Given the description of an element on the screen output the (x, y) to click on. 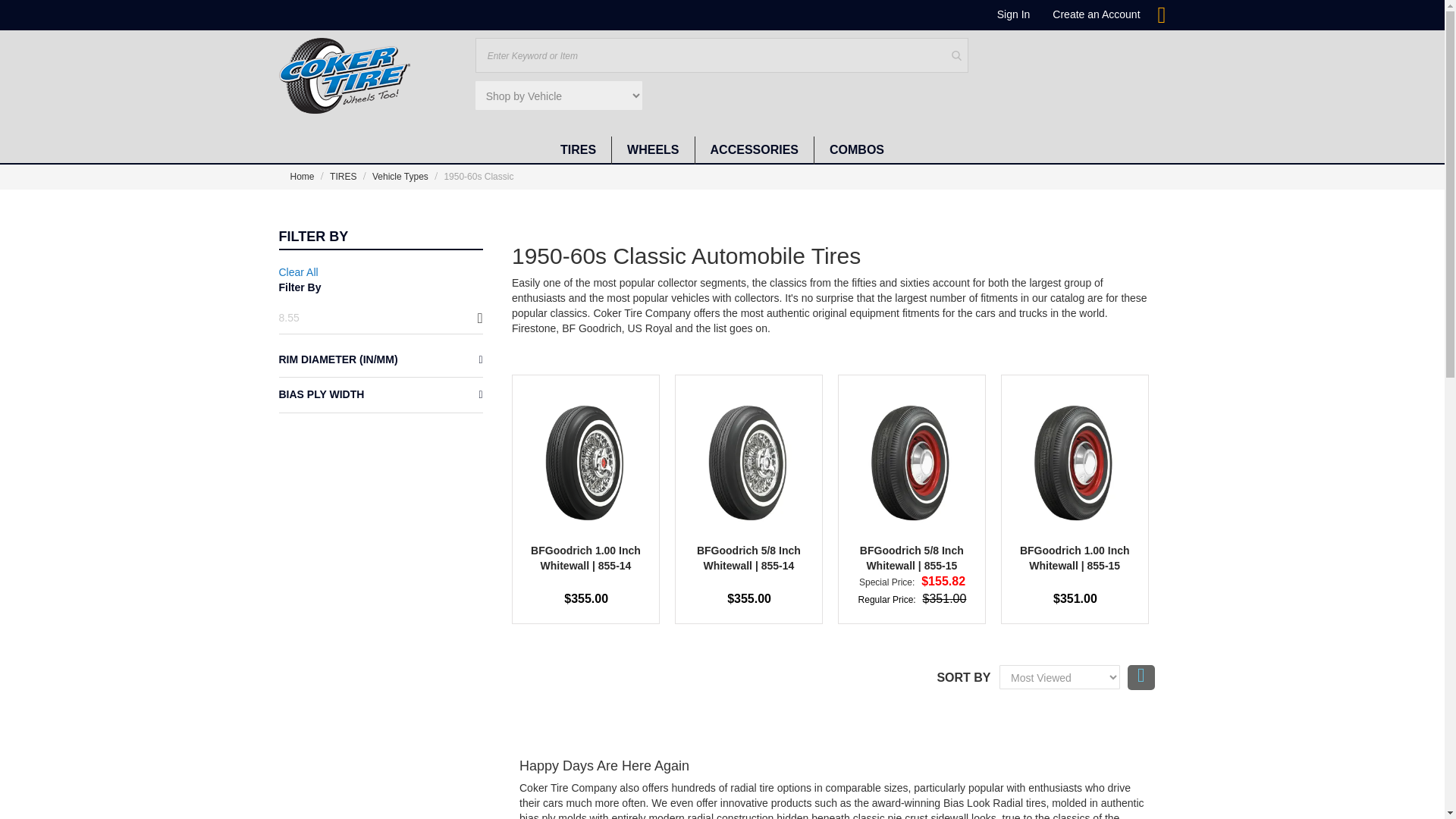
Set Descending Direction (1140, 677)
Go to Home Page (302, 176)
Sign In (1013, 14)
TIRES (577, 150)
Create an Account (1096, 14)
Coker Tire Company (344, 75)
